Given the description of an element on the screen output the (x, y) to click on. 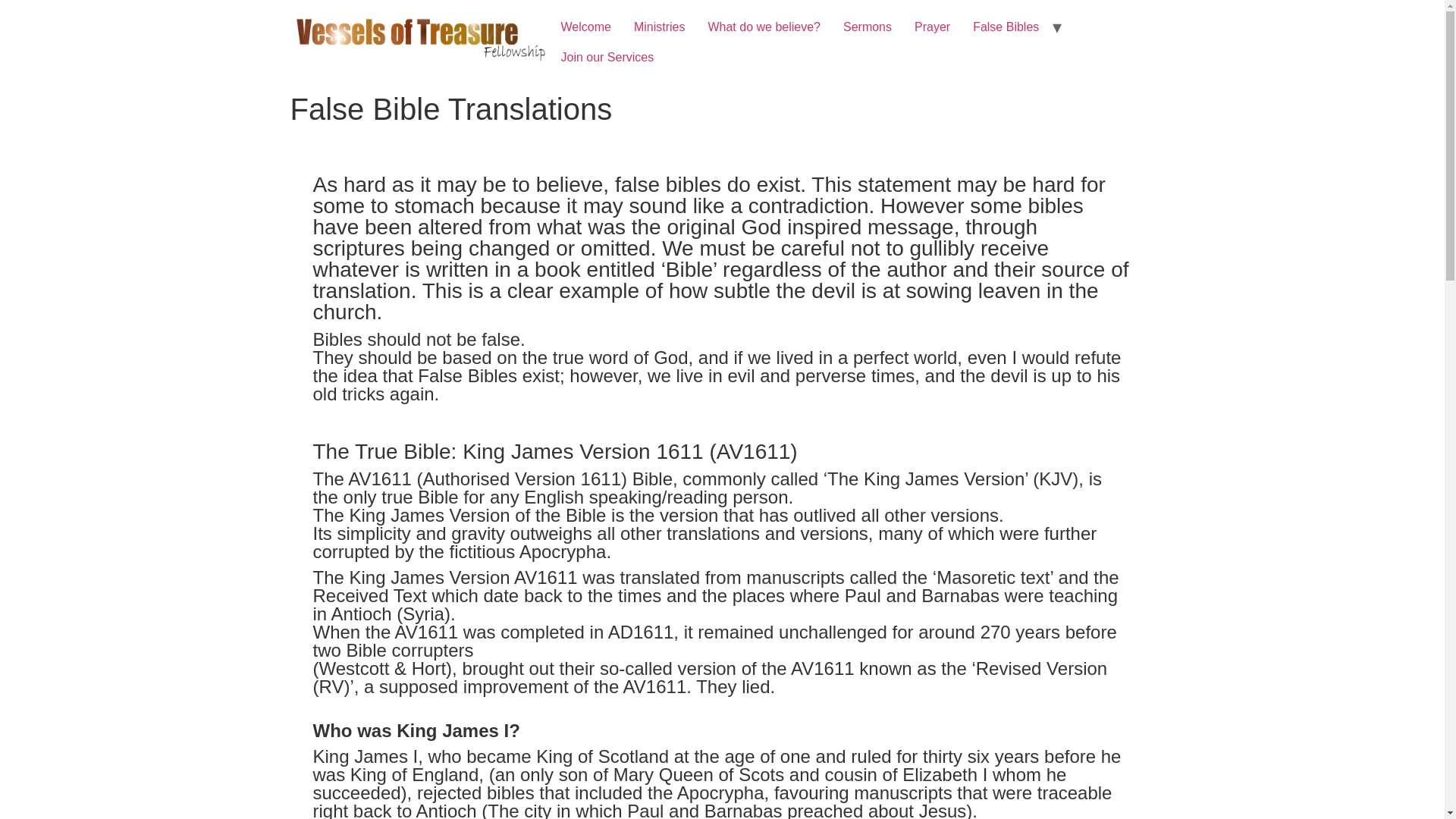
Welcome (584, 27)
Join our Services (606, 57)
Sermons (866, 27)
Prayer (931, 27)
Ministries (660, 27)
False Bibles (1004, 27)
What do we believe? (763, 27)
